Given the description of an element on the screen output the (x, y) to click on. 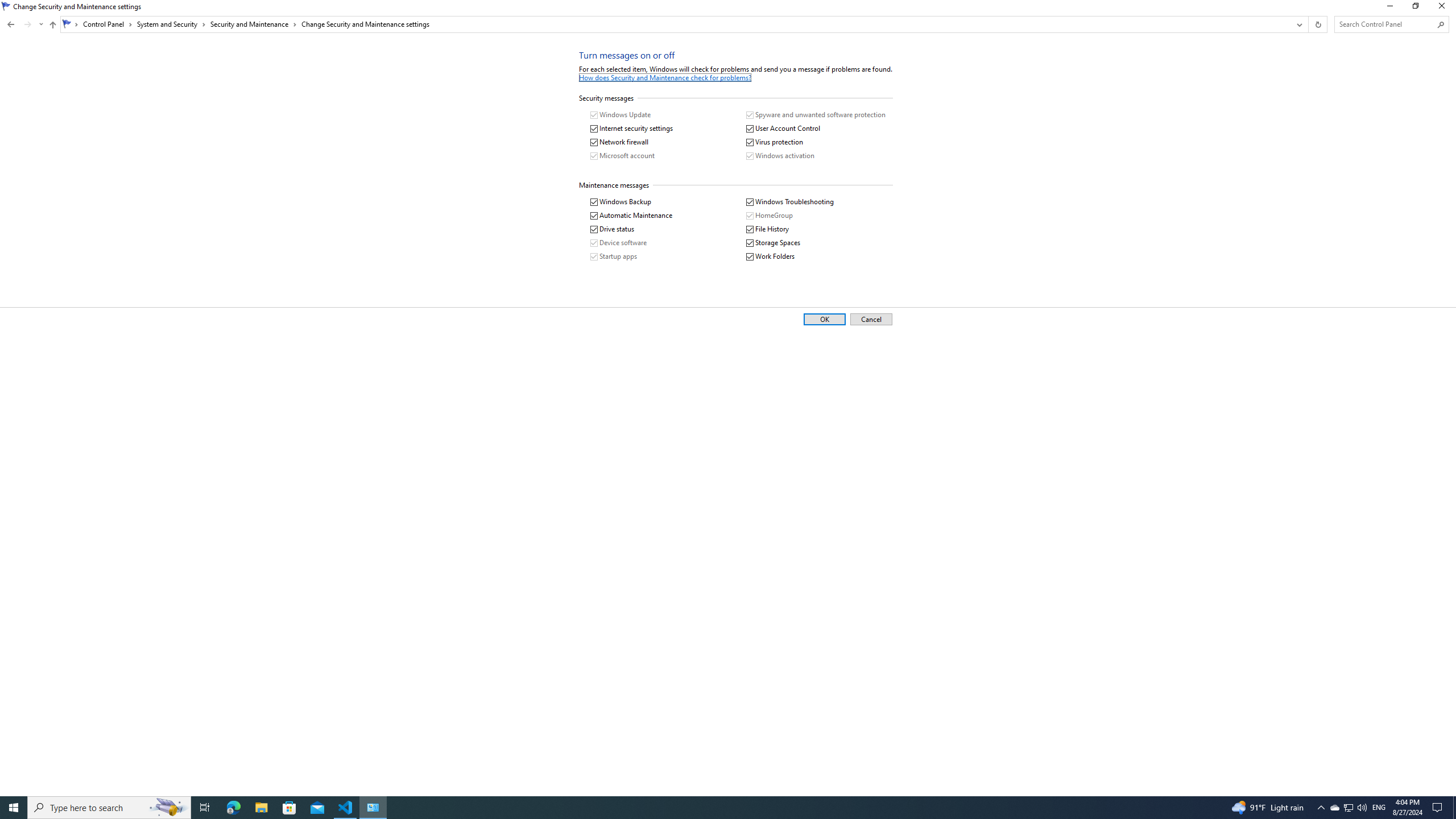
Navigation buttons (24, 23)
System and Security (171, 23)
Windows Update (620, 115)
Virus protection (774, 142)
Forward (Alt + Right Arrow) (27, 23)
Windows activation (780, 156)
Restore (1415, 8)
Recent locations (40, 23)
All locations (70, 23)
Automatic Maintenance (630, 215)
